Given the description of an element on the screen output the (x, y) to click on. 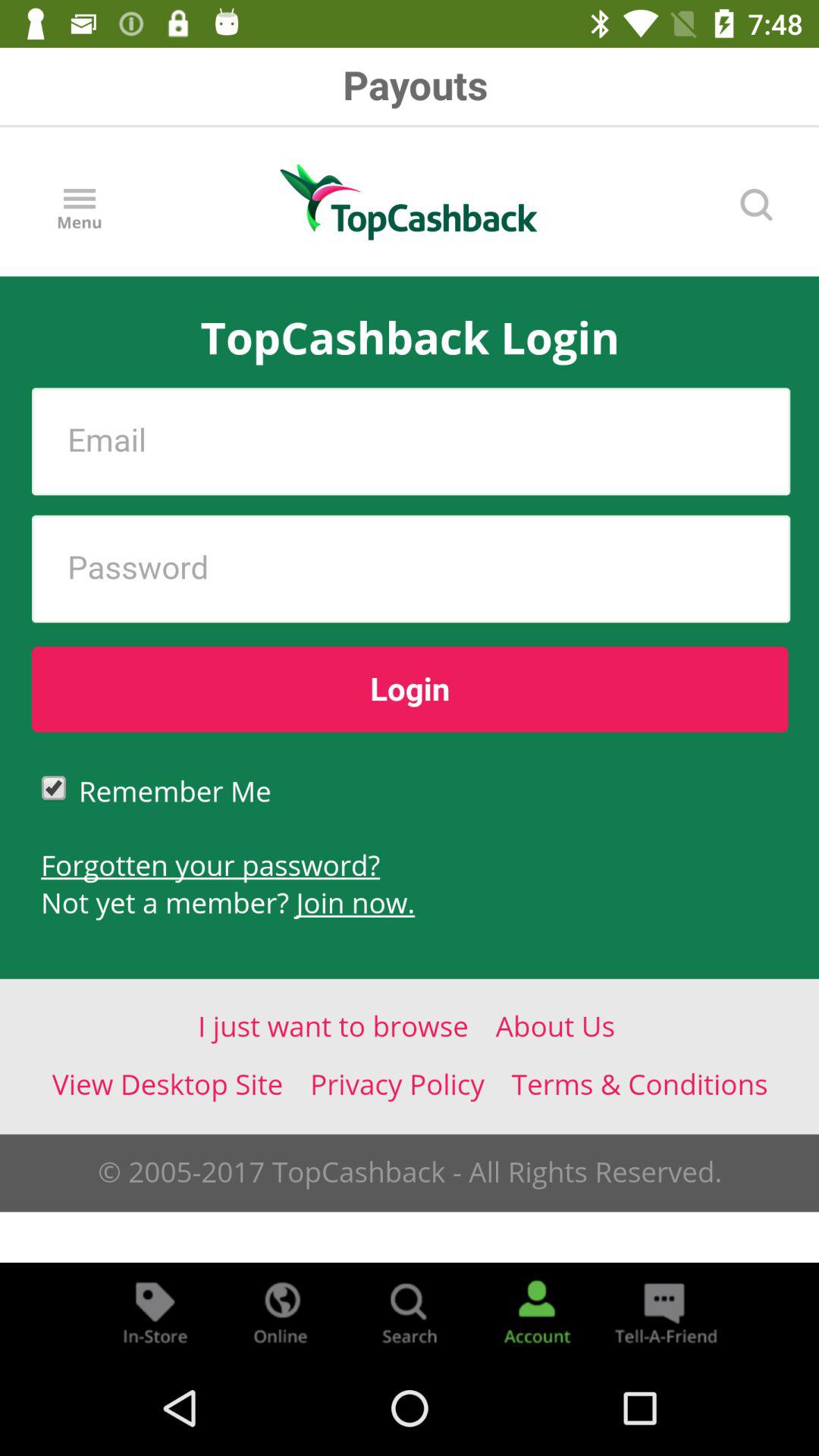
write message (664, 1311)
